Given the description of an element on the screen output the (x, y) to click on. 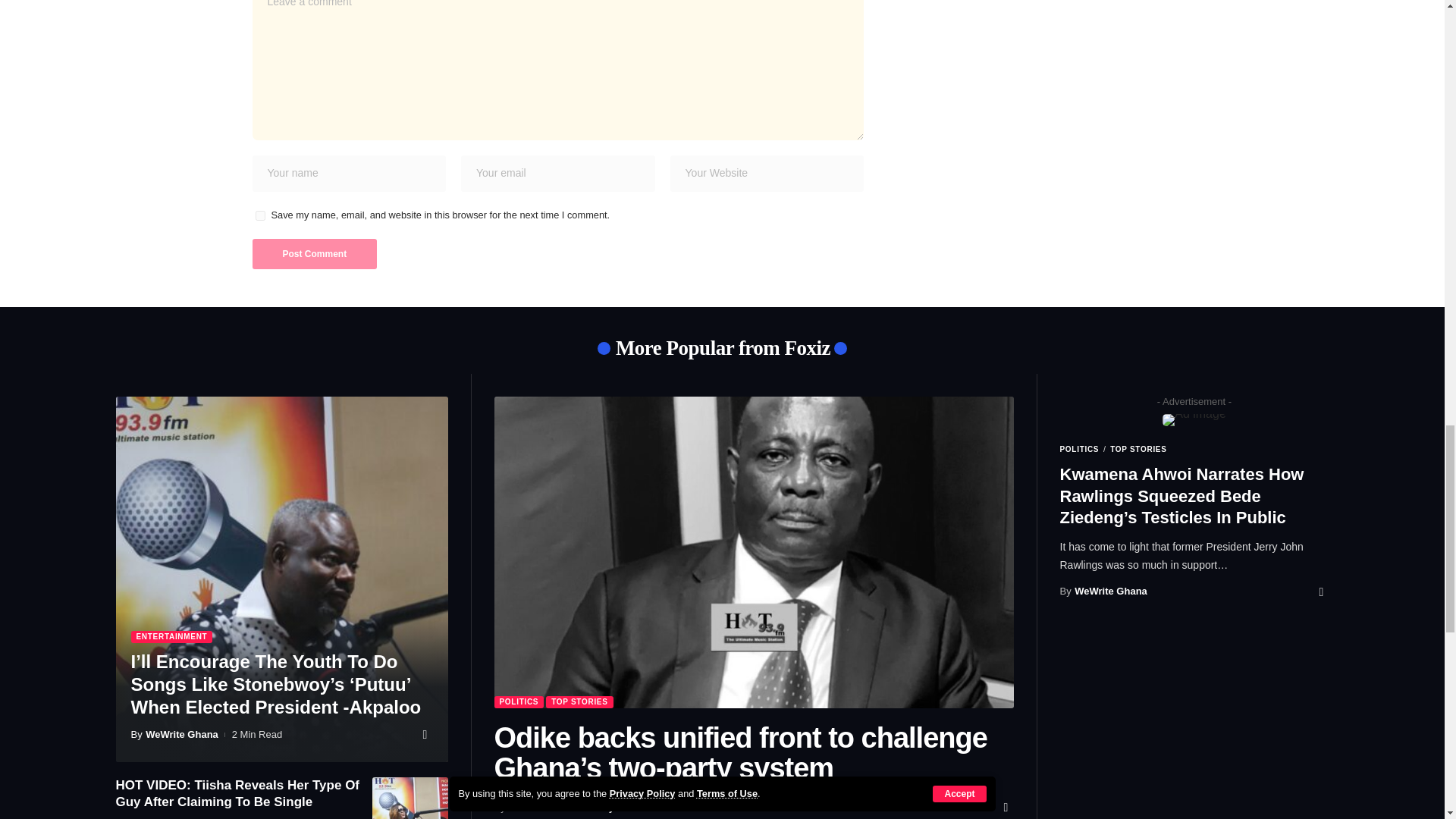
Post Comment (314, 254)
yes (259, 215)
